Given the description of an element on the screen output the (x, y) to click on. 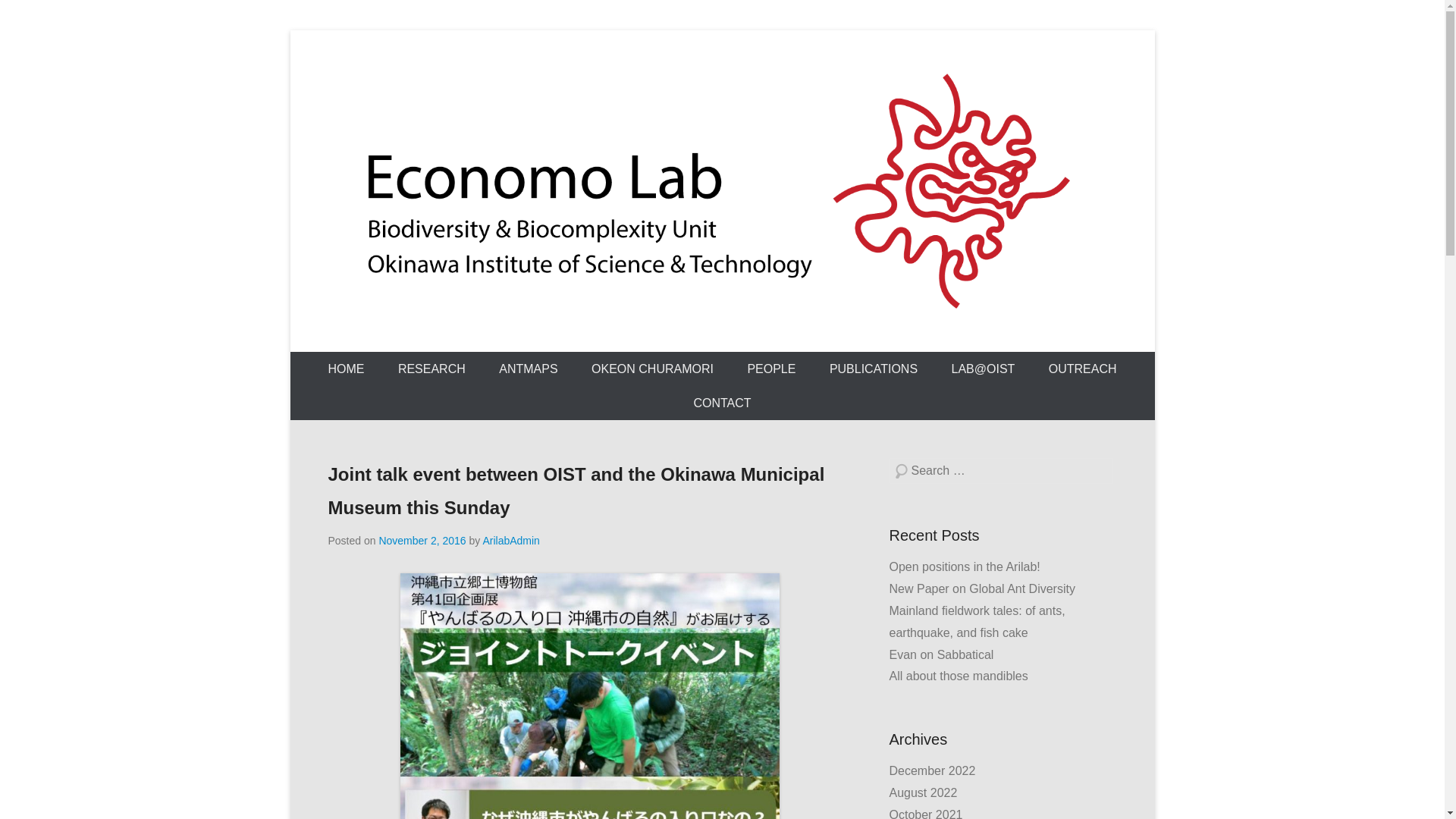
CONTACT (721, 402)
OUTREACH (1082, 368)
HOME (345, 368)
ANTMAPS (527, 368)
ArilabAdmin (509, 540)
PEOPLE (771, 368)
View all posts by ArilabAdmin (509, 540)
Economo Lab (452, 340)
